Given the description of an element on the screen output the (x, y) to click on. 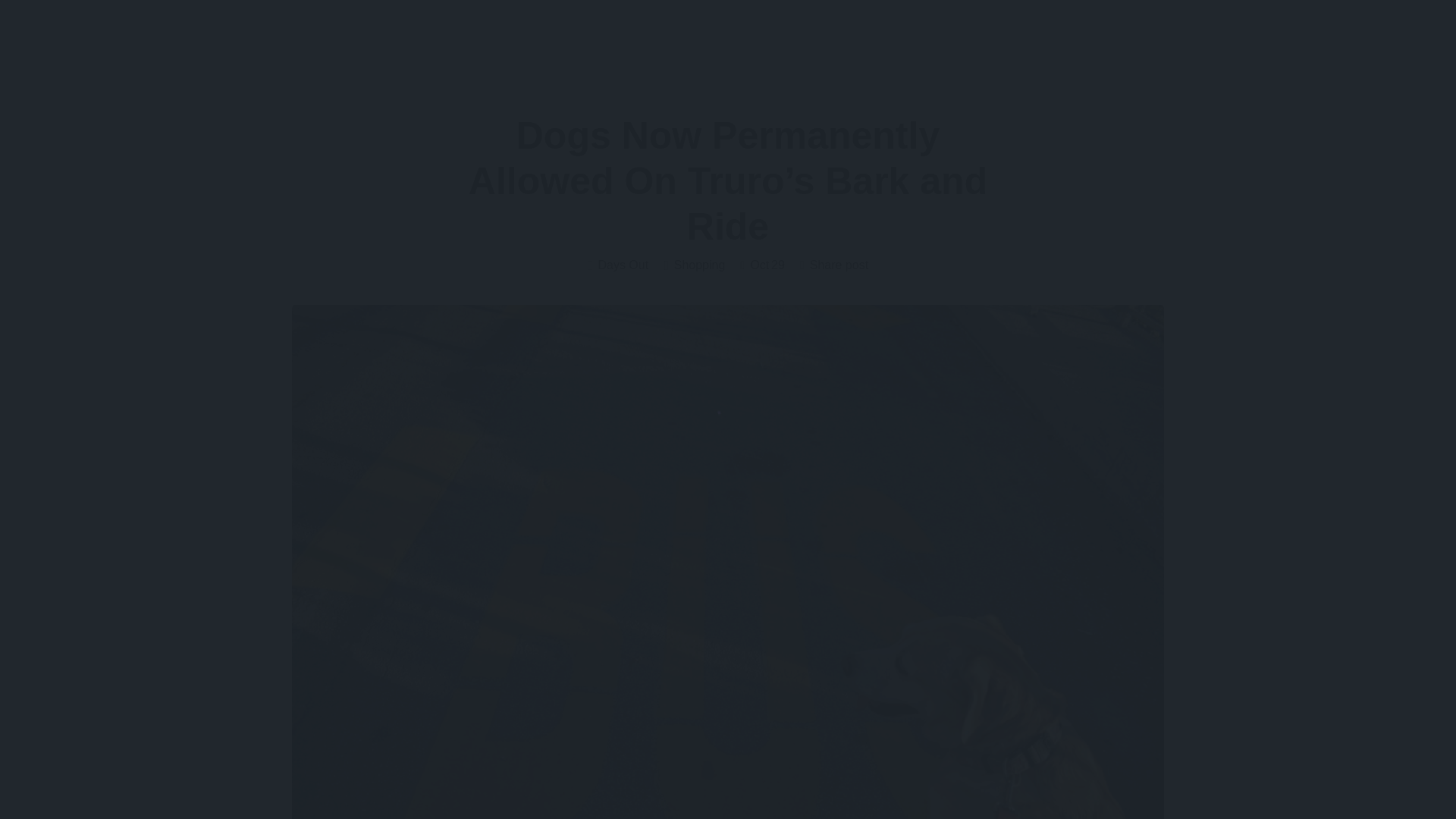
Shopping (694, 265)
Days Out (617, 265)
Share post (833, 265)
